Given the description of an element on the screen output the (x, y) to click on. 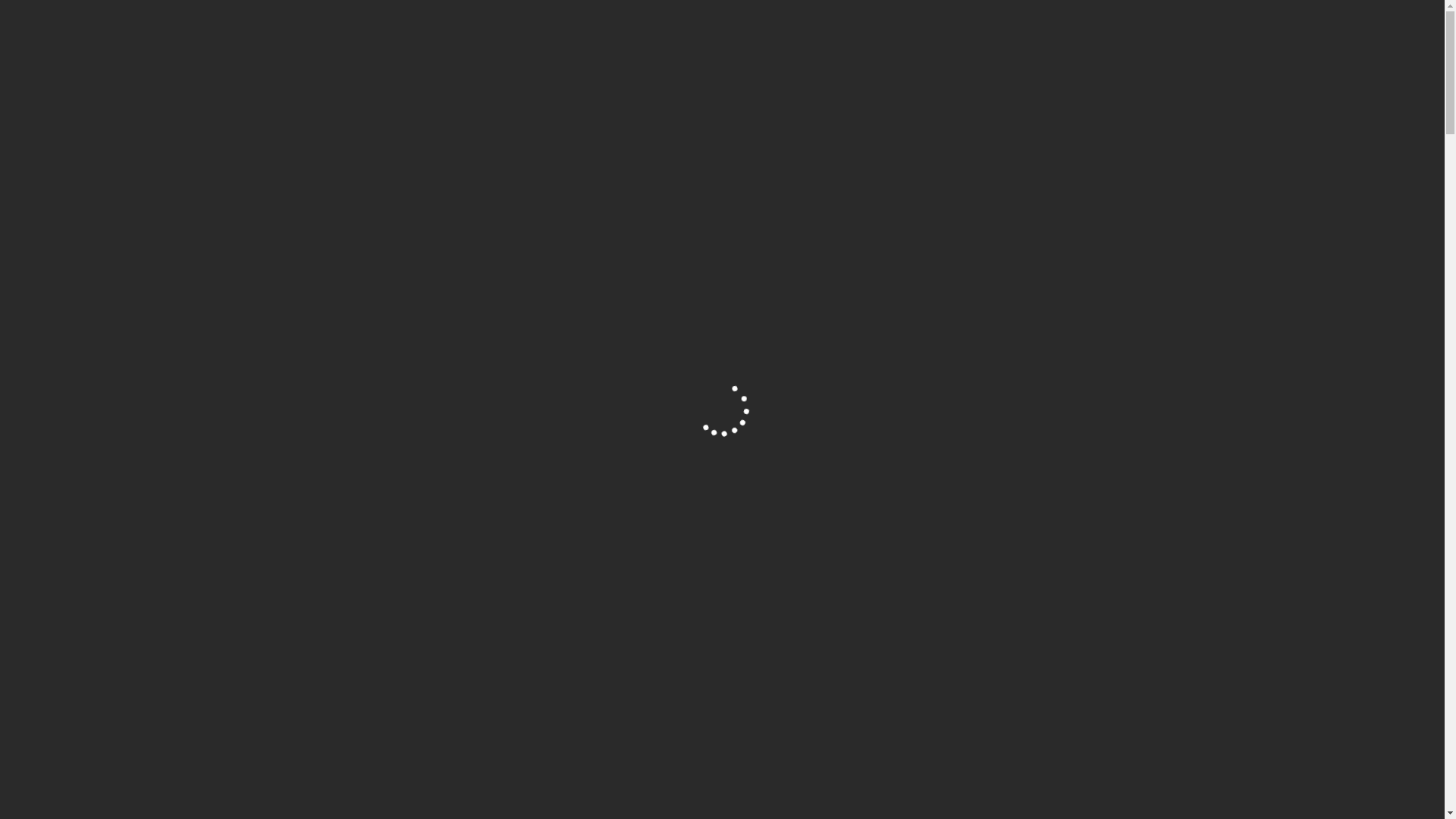
Questions you should ask during an interview Element type: text (749, 263)
Diego Pappalardo Element type: text (559, 293)
Codes And Notes Codes And Notes Element type: text (481, 36)
Opinion Element type: text (662, 293)
Read More Element type: text (378, 701)
